Given the description of an element on the screen output the (x, y) to click on. 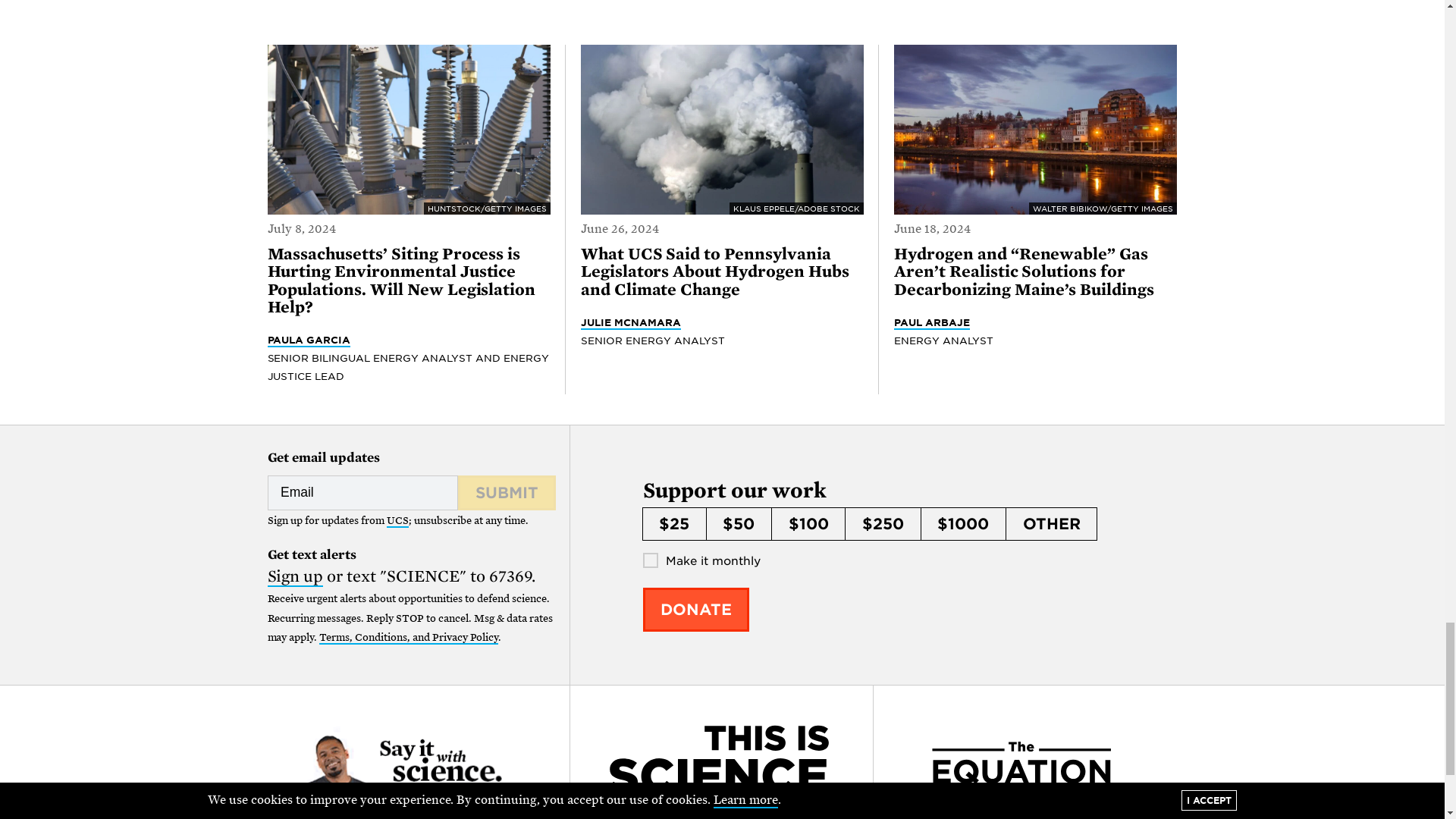
PAULA GARCIA (308, 340)
Submit (507, 492)
JULIE MCNAMARA (630, 323)
Donate Online (696, 609)
